Given the description of an element on the screen output the (x, y) to click on. 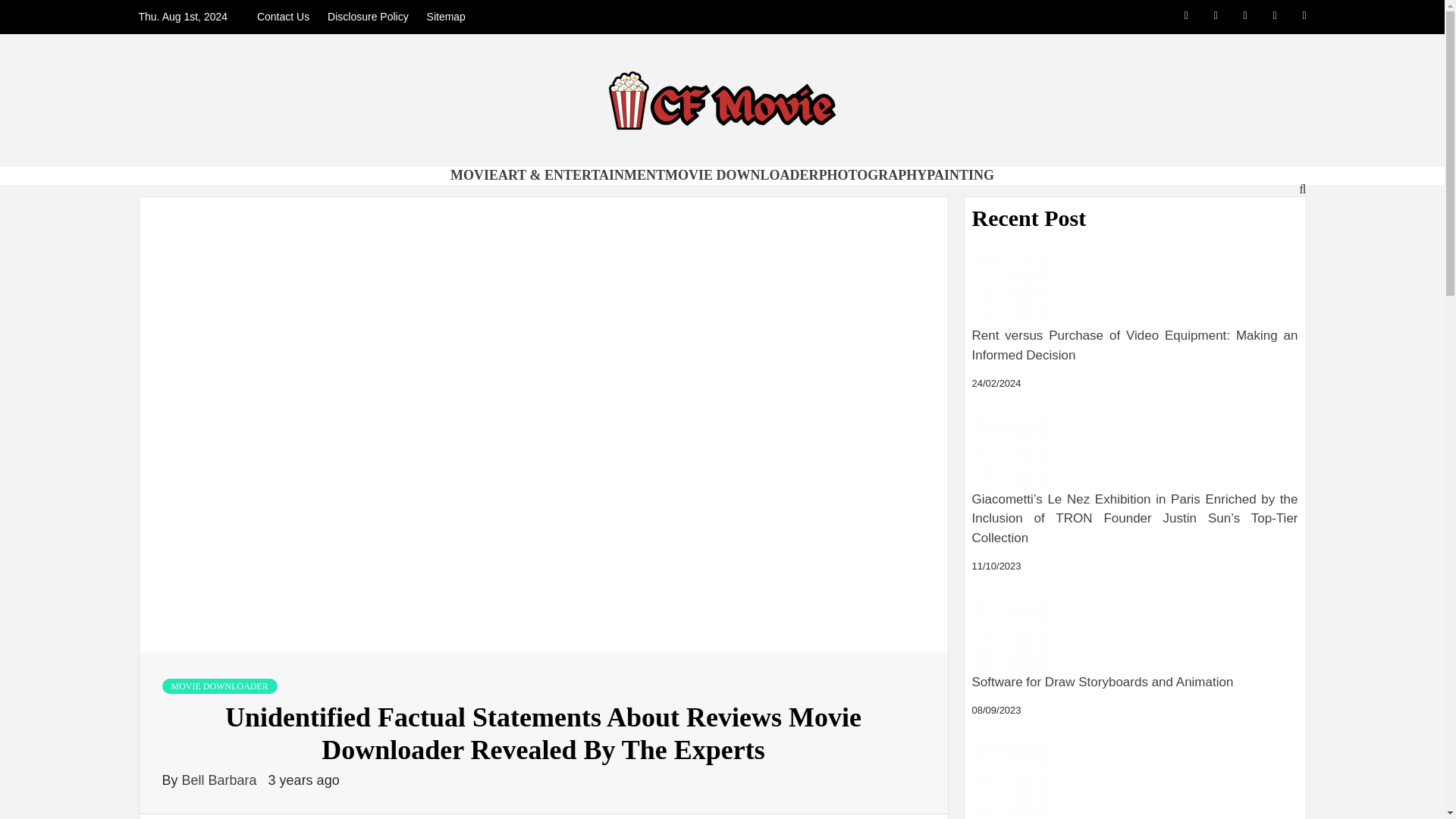
MOVIE DOWNLOADER (741, 174)
CF MOVIE (333, 179)
MOVIE DOWNLOADER (219, 685)
Disclosure Policy (368, 17)
Bell Barbara (221, 780)
PAINTING (960, 174)
Software for Draw Storyboards and Animation (1010, 633)
PHOTOGRAPHY (872, 174)
Contact Us (287, 17)
MOVIE (473, 174)
